Given the description of an element on the screen output the (x, y) to click on. 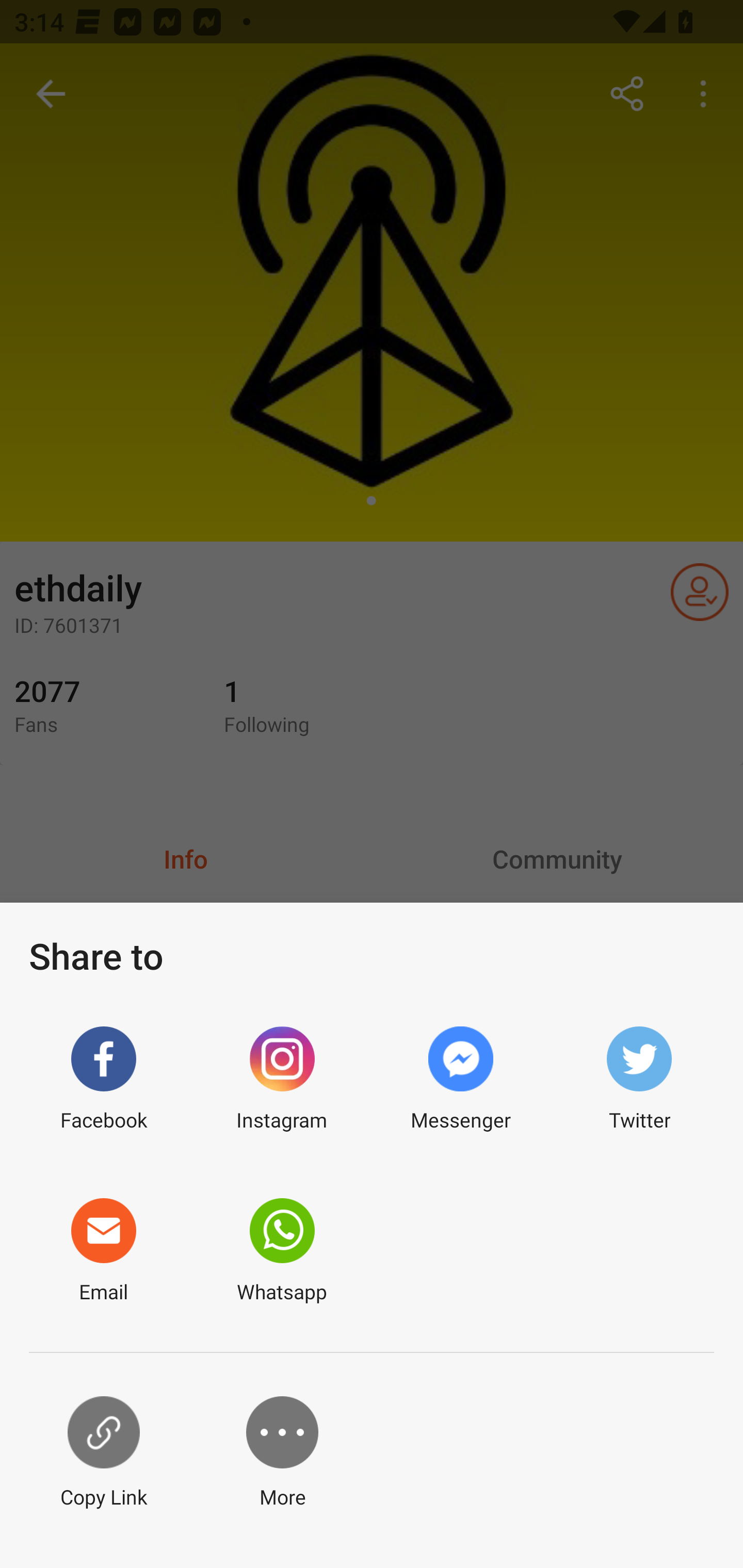
Facebook (103, 1079)
Instagram (282, 1079)
Messenger (460, 1079)
Twitter (638, 1079)
Email (103, 1251)
Whatsapp (282, 1251)
Copy Link (103, 1453)
More (282, 1453)
